Given the description of an element on the screen output the (x, y) to click on. 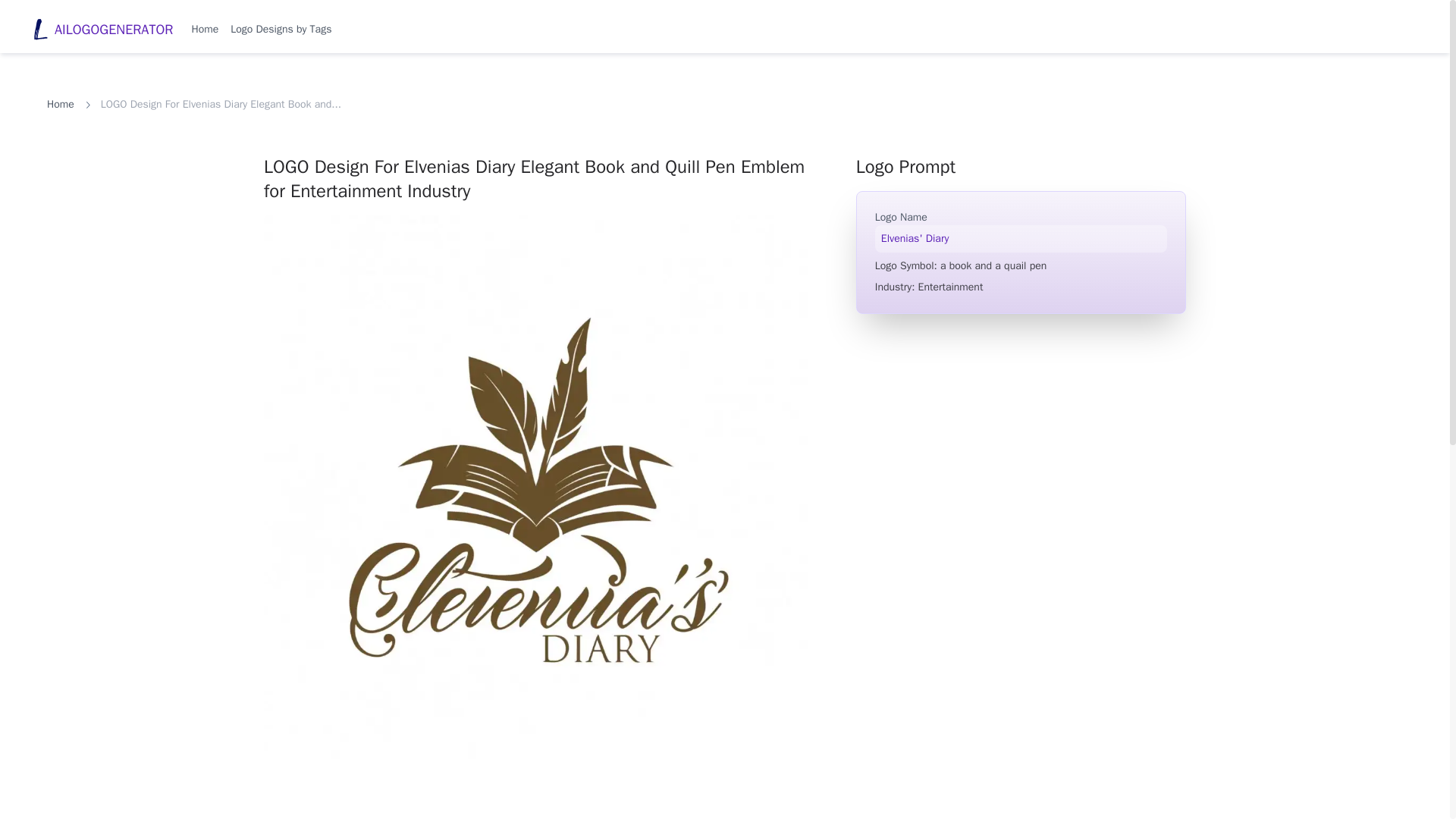
Home (60, 104)
Logo Designs by Tags (280, 29)
AILOGOGENERATOR (101, 29)
Home (204, 29)
